Given the description of an element on the screen output the (x, y) to click on. 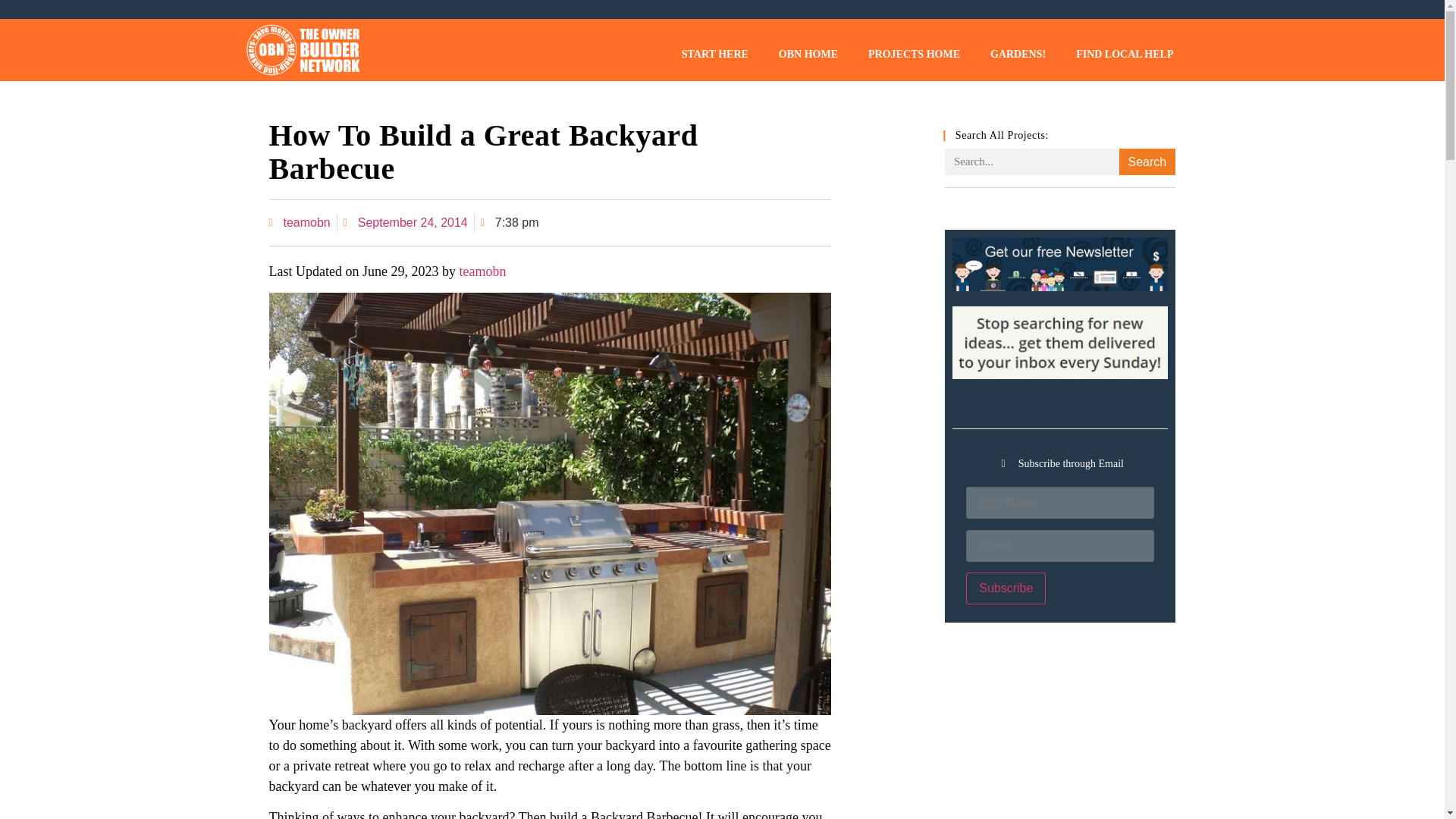
teamobn (481, 271)
OBN HOME (807, 54)
Search (1146, 161)
teamobn (298, 222)
GARDENS! (1018, 54)
September 24, 2014 (405, 222)
FIND LOCAL HELP (1124, 54)
START HERE (714, 54)
PROJECTS HOME (914, 54)
